Given the description of an element on the screen output the (x, y) to click on. 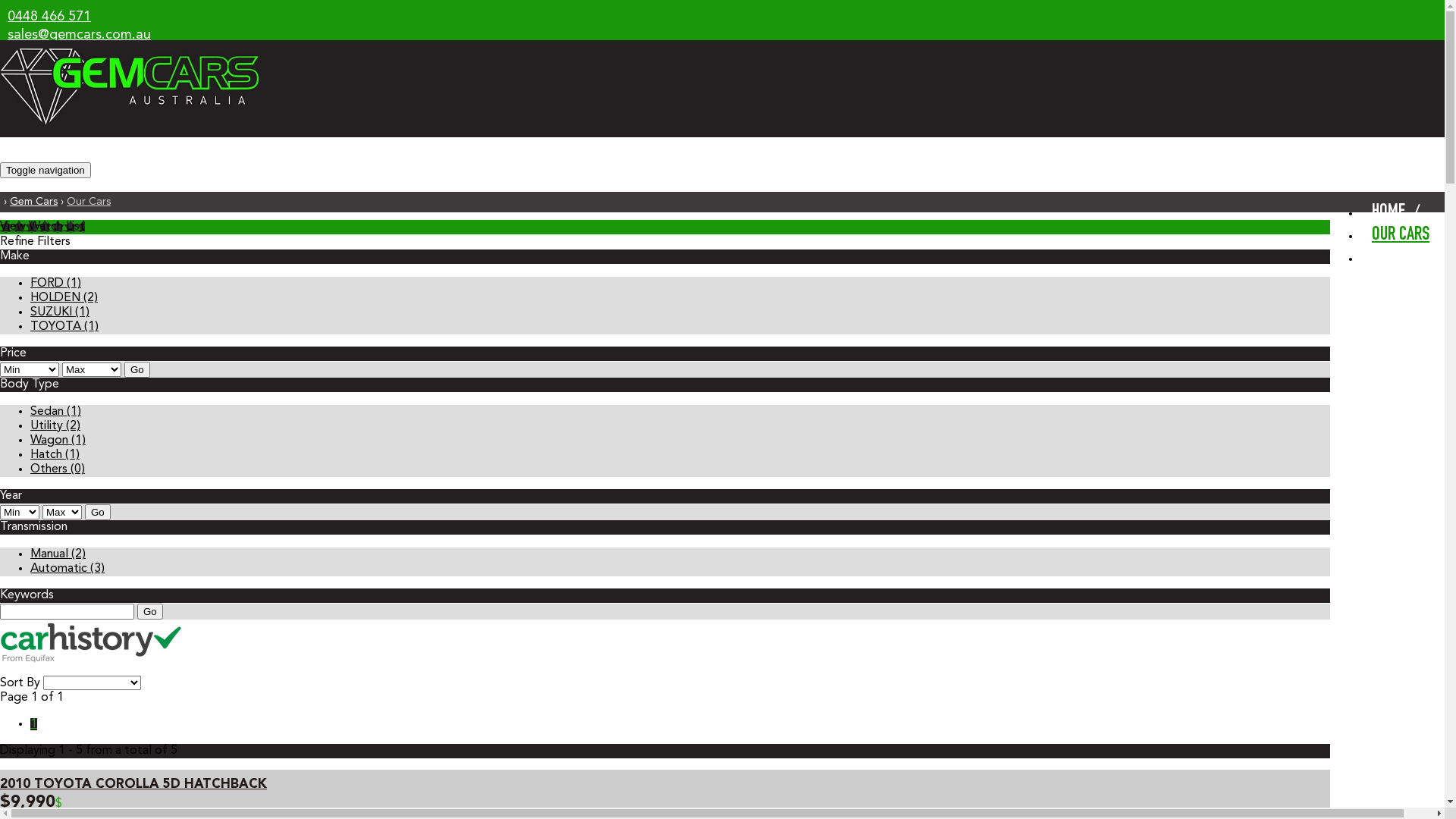
Utility (2) Element type: text (55, 426)
Sedan (1) Element type: text (55, 411)
Hatch (1) Element type: text (54, 454)
CONTACT US Element type: text (1400, 257)
$9,990 Element type: text (27, 803)
Automatic (3) Element type: text (67, 568)
sales@gemcars.com.au Element type: text (78, 34)
Others (0) Element type: text (57, 469)
HOME Element type: text (1390, 212)
HOLDEN (2) Element type: text (63, 297)
Toggle navigation Element type: text (45, 170)
Go Element type: text (150, 611)
1 Element type: text (33, 724)
Go Element type: text (137, 369)
2010 TOYOTA COROLLA 5D HATCHBACK Element type: text (133, 784)
Gem Cars Element type: text (33, 201)
$ Element type: text (58, 803)
OUR CARS Element type: text (1402, 234)
Manual (2) Element type: text (57, 554)
FB Element type: text (12, 77)
SUZUKI (1) Element type: text (59, 312)
View Watch List Element type: text (42, 226)
Instagram Element type: text (62, 77)
Our Cars Element type: text (88, 201)
Wagon (1) Element type: text (57, 440)
0448 466 571 Element type: text (49, 16)
Go Element type: text (97, 512)
TOYOTA (1) Element type: text (64, 326)
FORD (1) Element type: text (55, 283)
Kurri Kurri, NSW 2327 Element type: text (74, 52)
